Given the description of an element on the screen output the (x, y) to click on. 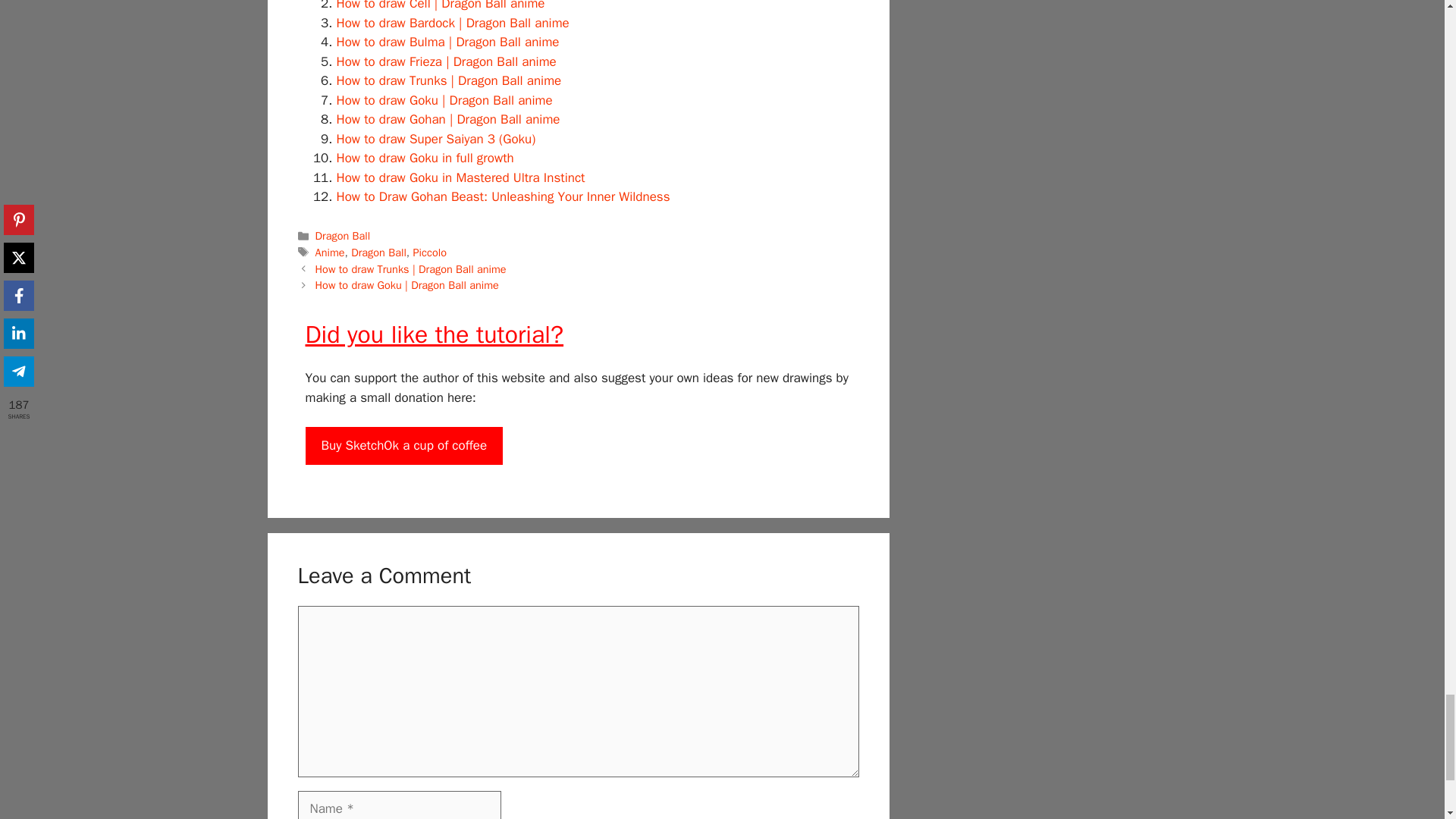
How to draw Goku in Mastered Ultra Instinct (460, 177)
How to Draw Gohan Beast: Unleashing Your Inner Wildness (502, 196)
How to draw Goku in full growth (424, 157)
